Given the description of an element on the screen output the (x, y) to click on. 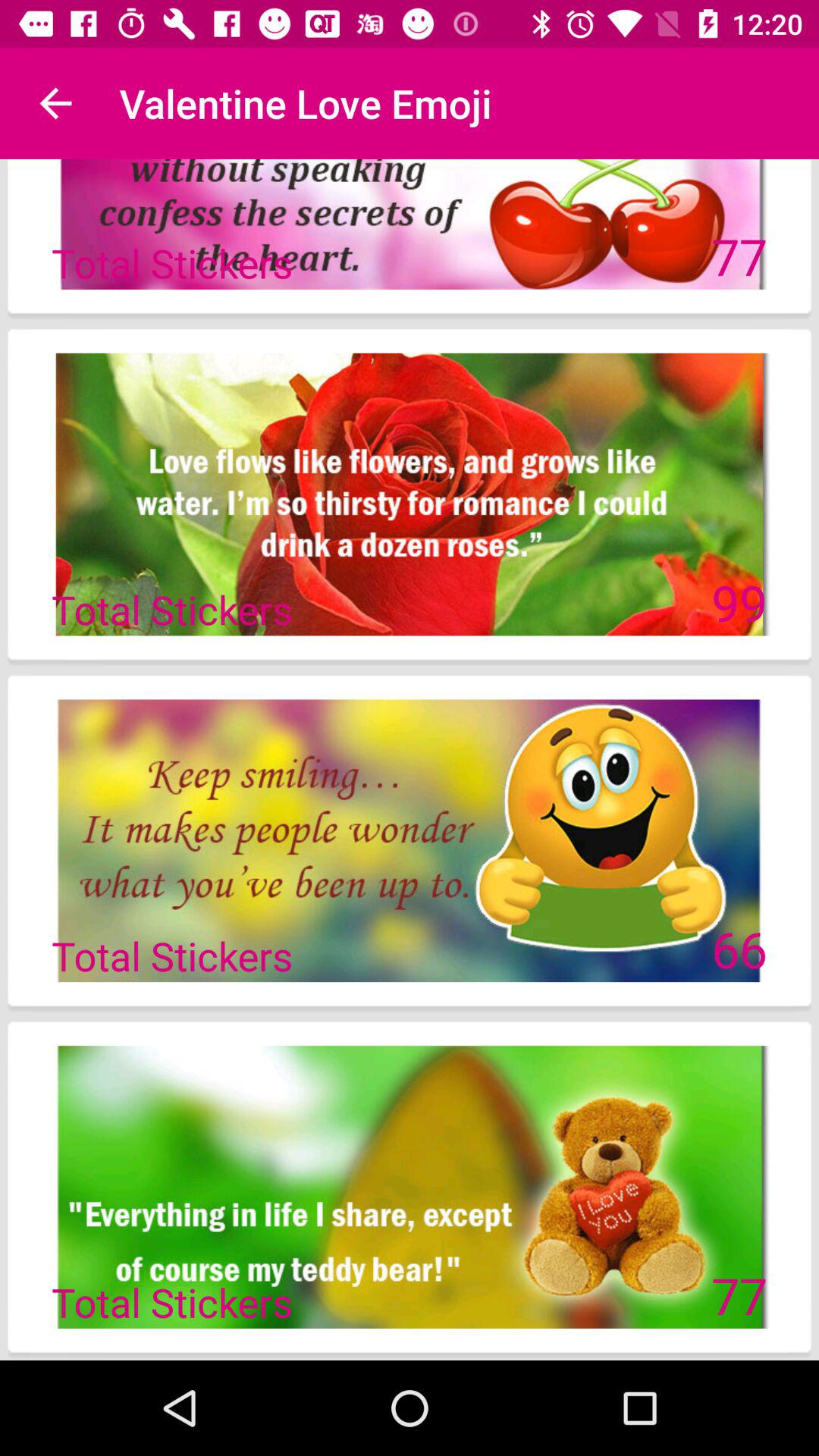
tap item to the right of the total stickers icon (739, 948)
